Given the description of an element on the screen output the (x, y) to click on. 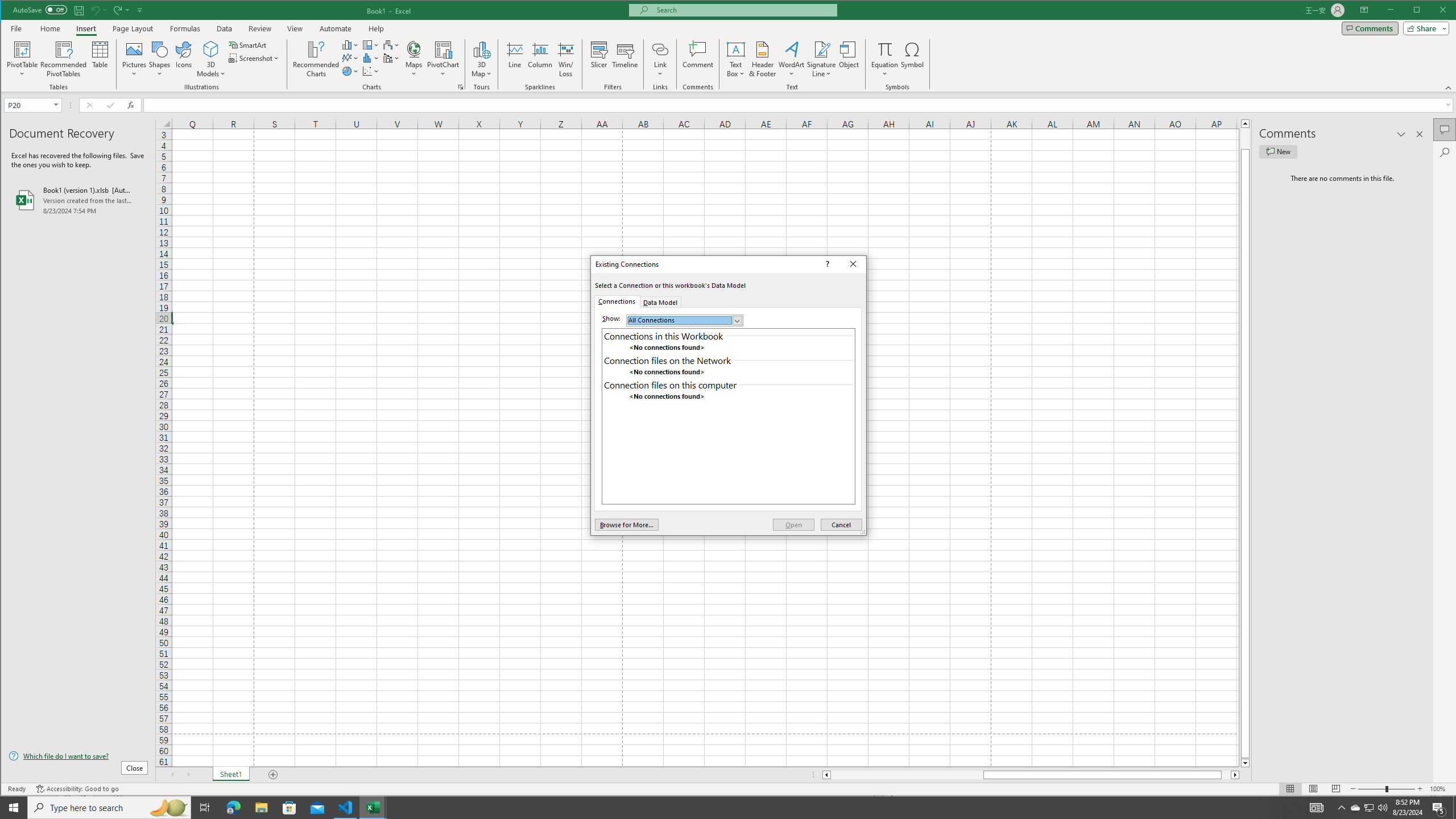
Search highlights icon opens search home window (167, 807)
Slicer... (598, 59)
PivotTable (22, 48)
Browse for More... (626, 524)
WordArt (791, 59)
Insert Waterfall, Funnel, Stock, Surface, or Radar Chart (391, 44)
Collapse the Ribbon (1448, 87)
Microsoft Edge (233, 807)
Save (79, 9)
Pictures (134, 59)
Minimize (1419, 11)
Share (1423, 27)
PivotChart (443, 59)
User Promoted Notification Area (1368, 807)
Home (50, 28)
